Given the description of an element on the screen output the (x, y) to click on. 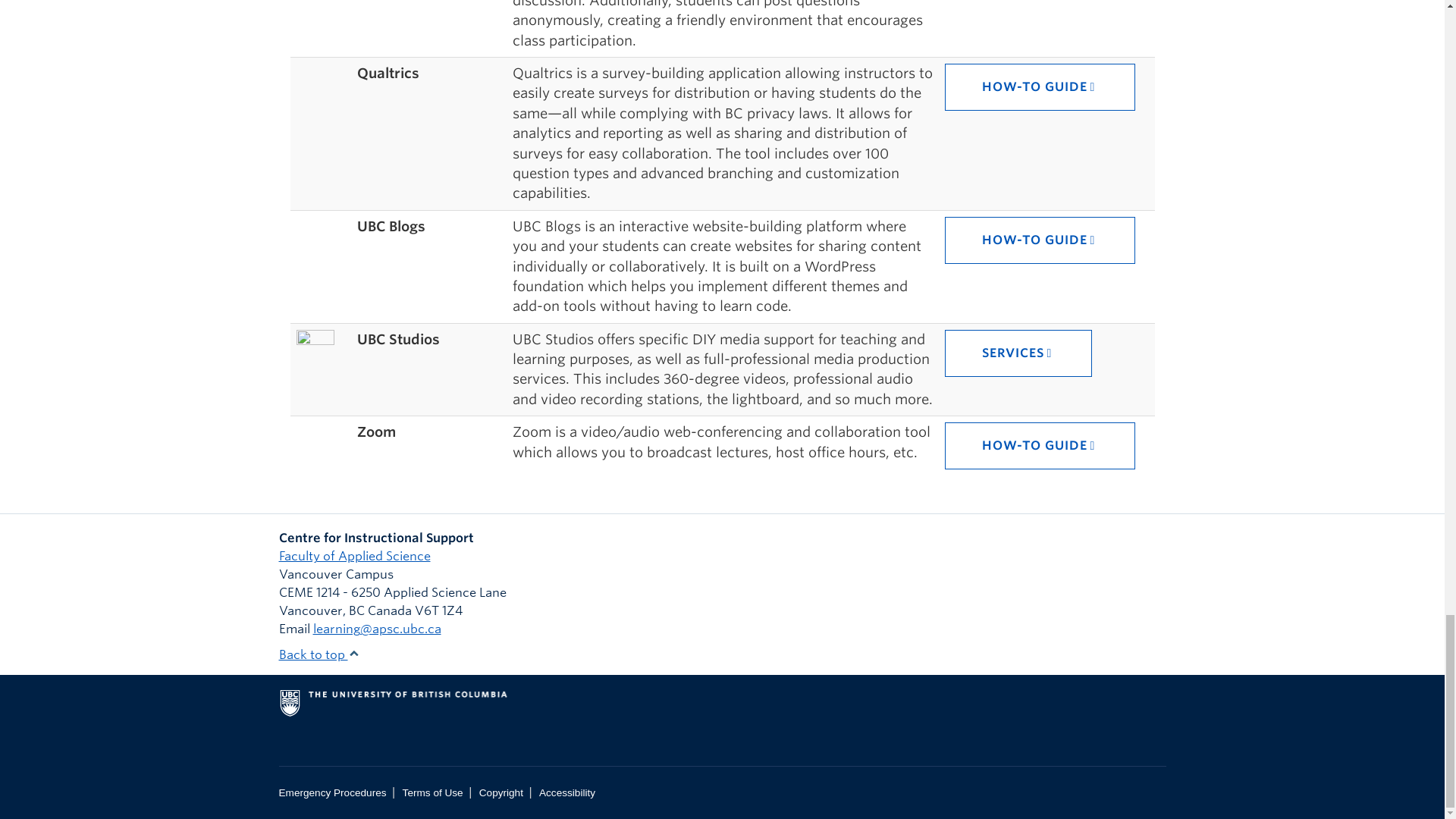
Accessibility (566, 792)
UBC Copyright (500, 792)
Terms of Use (433, 792)
Emergency Procedures (333, 792)
Back to top (319, 654)
